Given the description of an element on the screen output the (x, y) to click on. 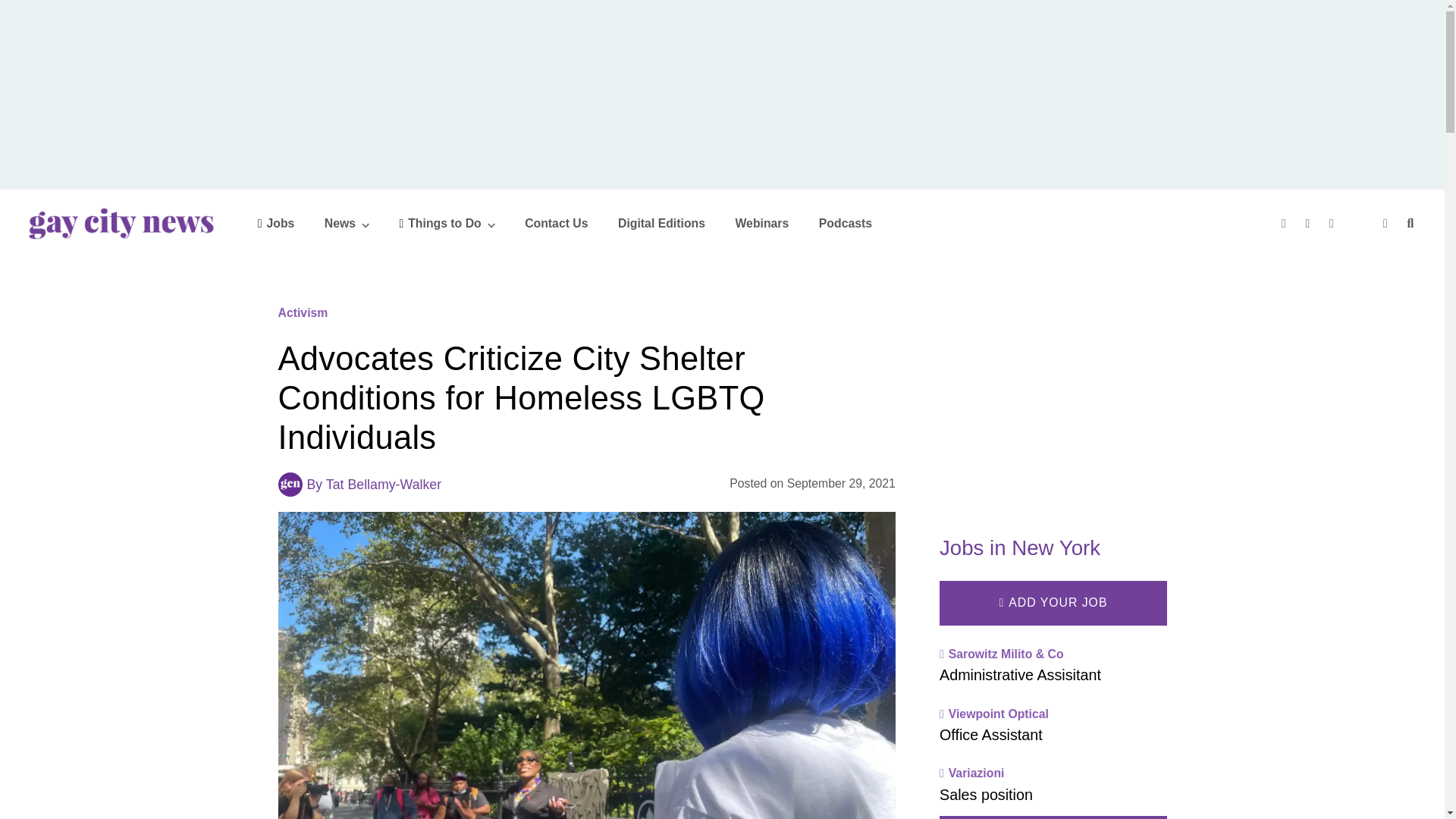
Things to Do (446, 223)
Posts by Tat Bellamy-Walker (383, 484)
Webinars (762, 223)
Digital Editions (660, 223)
Contact Us (556, 223)
Jobs (276, 223)
News (346, 223)
Podcasts (845, 223)
